Given the description of an element on the screen output the (x, y) to click on. 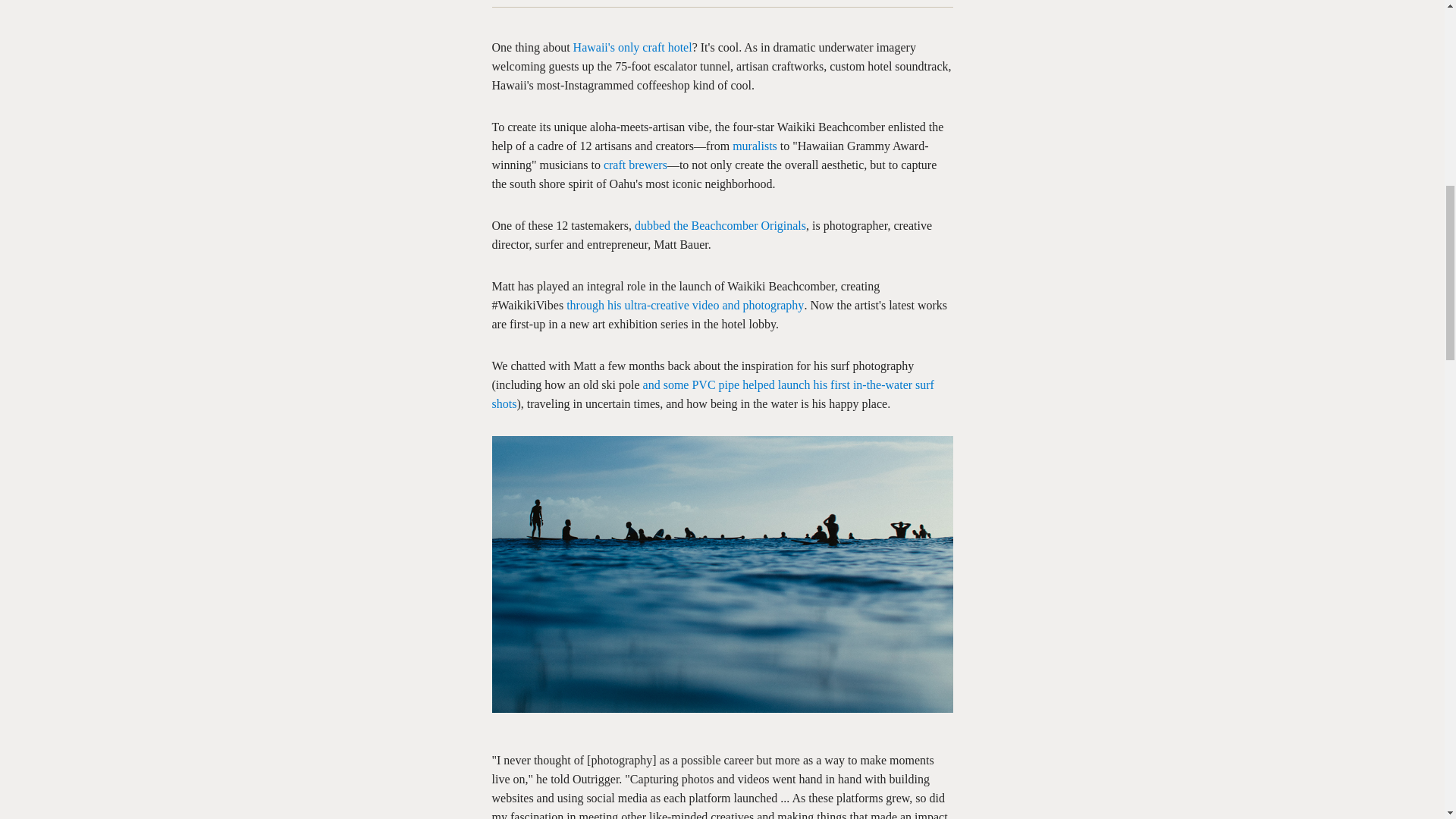
muralists (754, 145)
through his ultra-creative video and photography (684, 305)
BOOK NOW (1162, 797)
Hawaii's only craft hotel (633, 47)
Matt C Bauer - Instagram account (684, 305)
dubbed the Beachcomber Originals (720, 225)
craft brewers (635, 164)
